Given the description of an element on the screen output the (x, y) to click on. 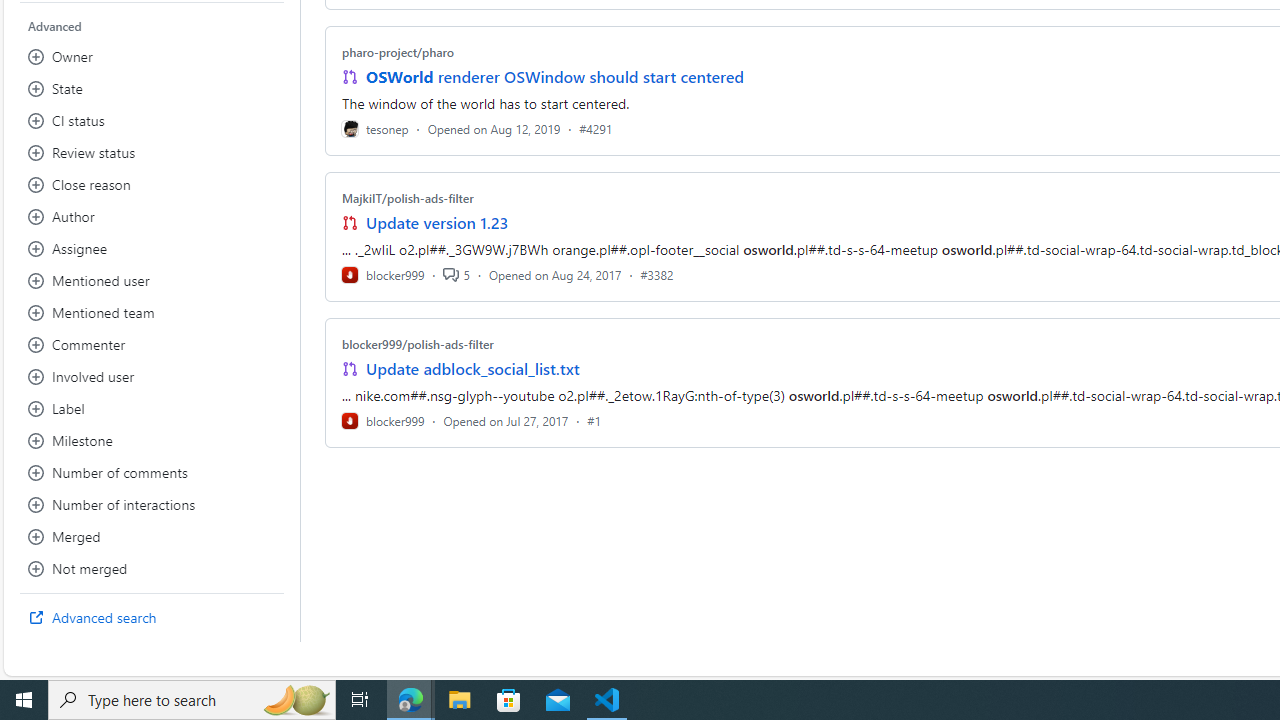
blocker999 (382, 420)
OSWorld renderer OSWindow should start centered (554, 76)
MajkiIT/polish-ads-filter (407, 197)
